Given the description of an element on the screen output the (x, y) to click on. 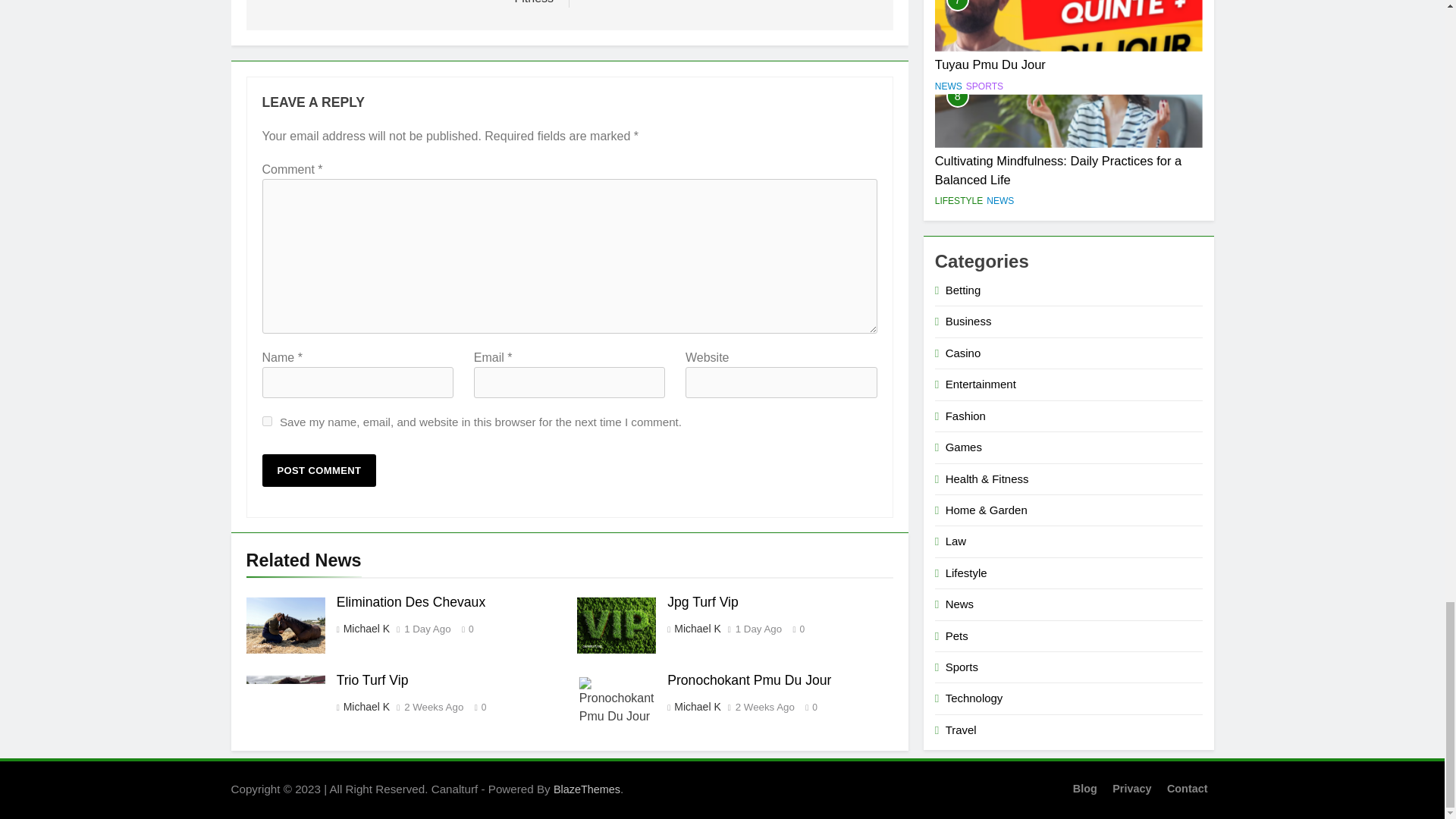
Post Comment (319, 470)
yes (267, 420)
